Given the description of an element on the screen output the (x, y) to click on. 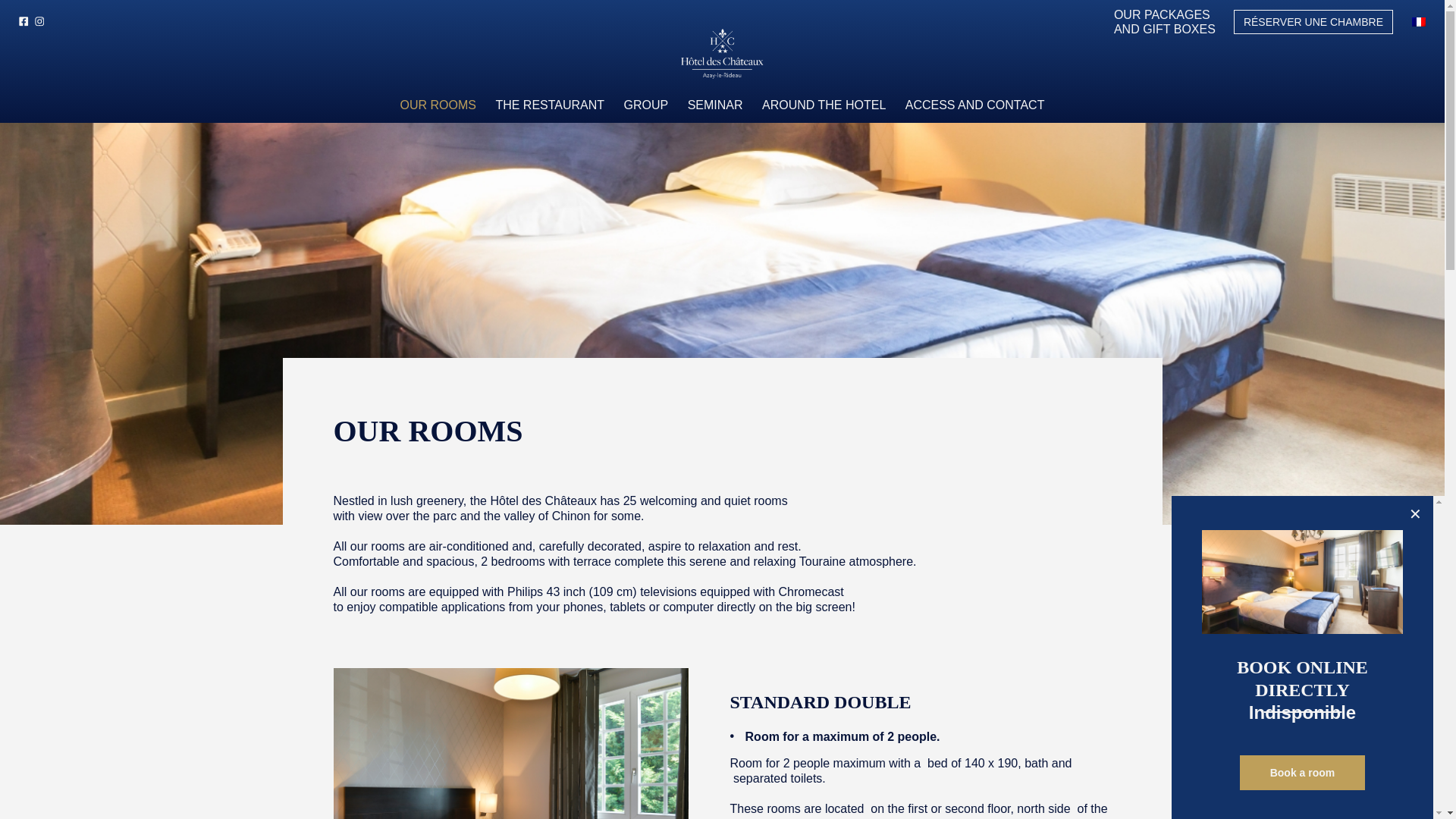
THE RESTAURANT (549, 104)
AROUND THE HOTEL (823, 104)
ACCESS AND CONTACT (975, 104)
SEMINAR (714, 104)
GROUP (646, 104)
Book a room (1302, 772)
